Given the description of an element on the screen output the (x, y) to click on. 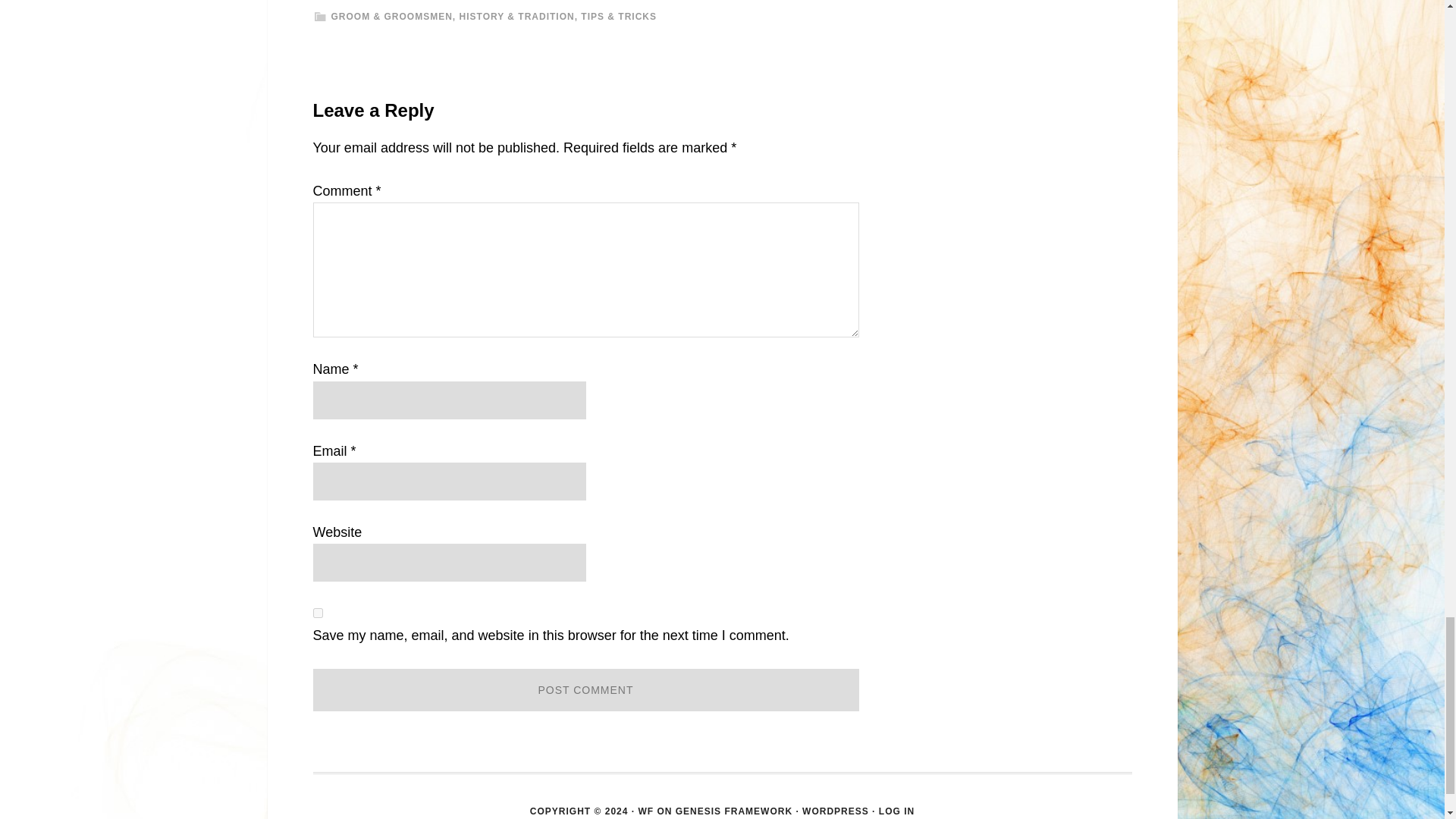
yes (317, 613)
Post Comment (586, 690)
Post Comment (586, 690)
